Given the description of an element on the screen output the (x, y) to click on. 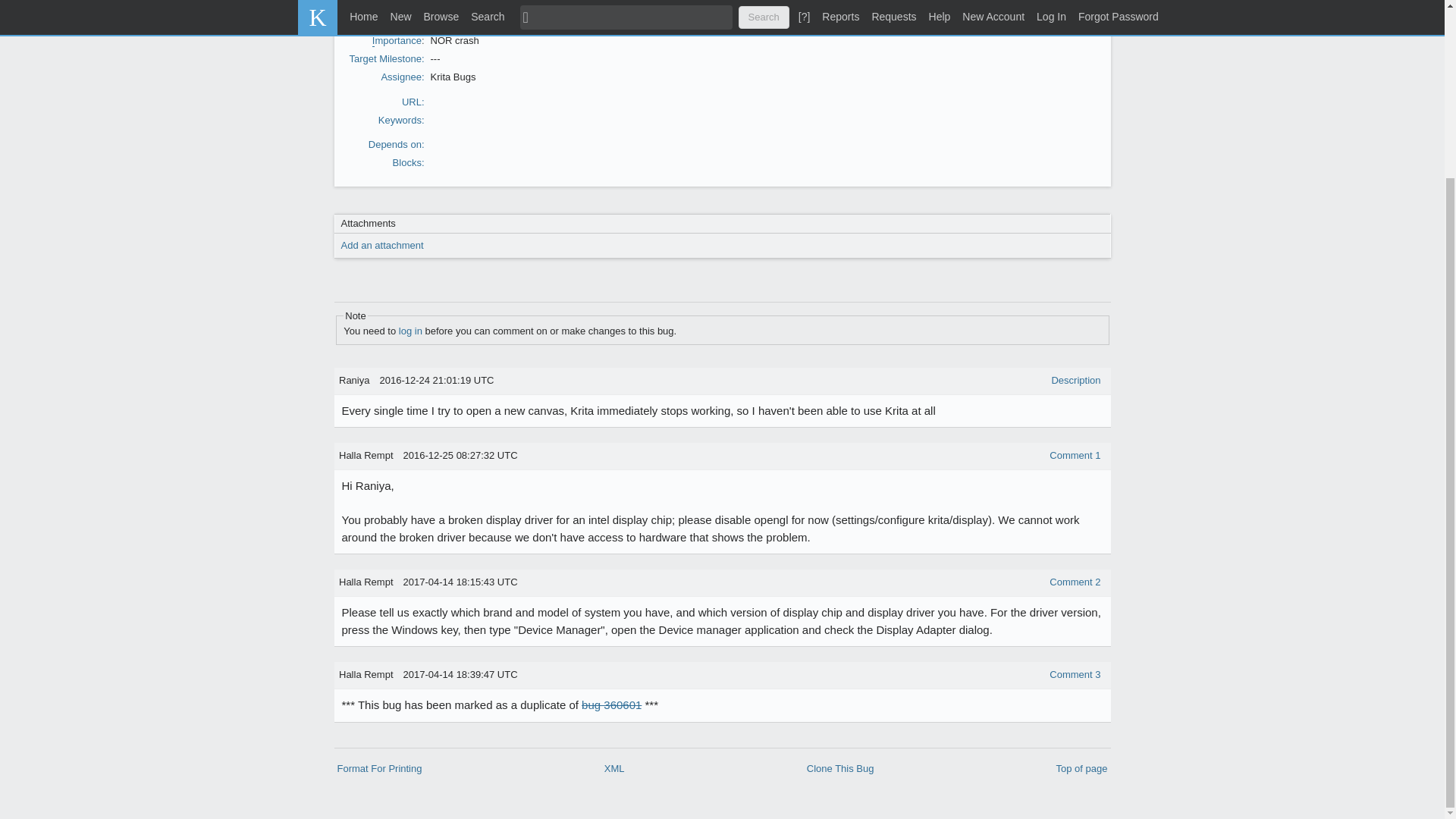
Version: (406, 1)
Blocks: (409, 162)
A custom Free Text field in this installation of Bugzilla. (794, 9)
Depends on: (396, 143)
Platform: (403, 15)
Assignee: (401, 76)
